Given the description of an element on the screen output the (x, y) to click on. 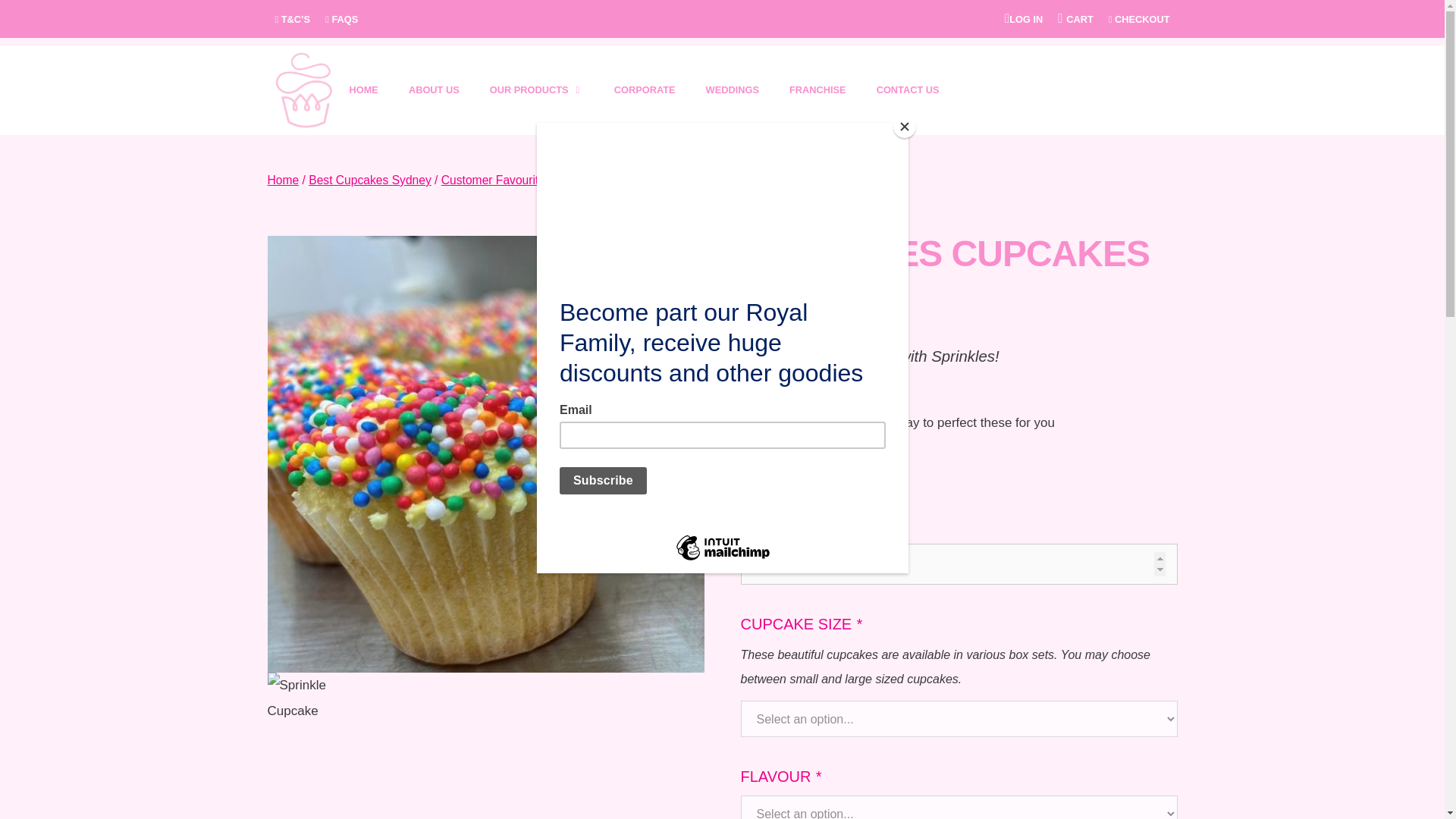
Share on Facebook (751, 484)
The Cupcake Princess (303, 88)
Send over email (851, 484)
CHECKOUT (1139, 19)
CONTACT US (908, 90)
FRANCHISE (817, 90)
HOME (363, 90)
ABOUT US (433, 90)
WEDDINGS (732, 90)
Home (282, 179)
OUR PRODUCTS (536, 90)
FAQS (341, 19)
CART (1079, 19)
1 (957, 563)
